Given the description of an element on the screen output the (x, y) to click on. 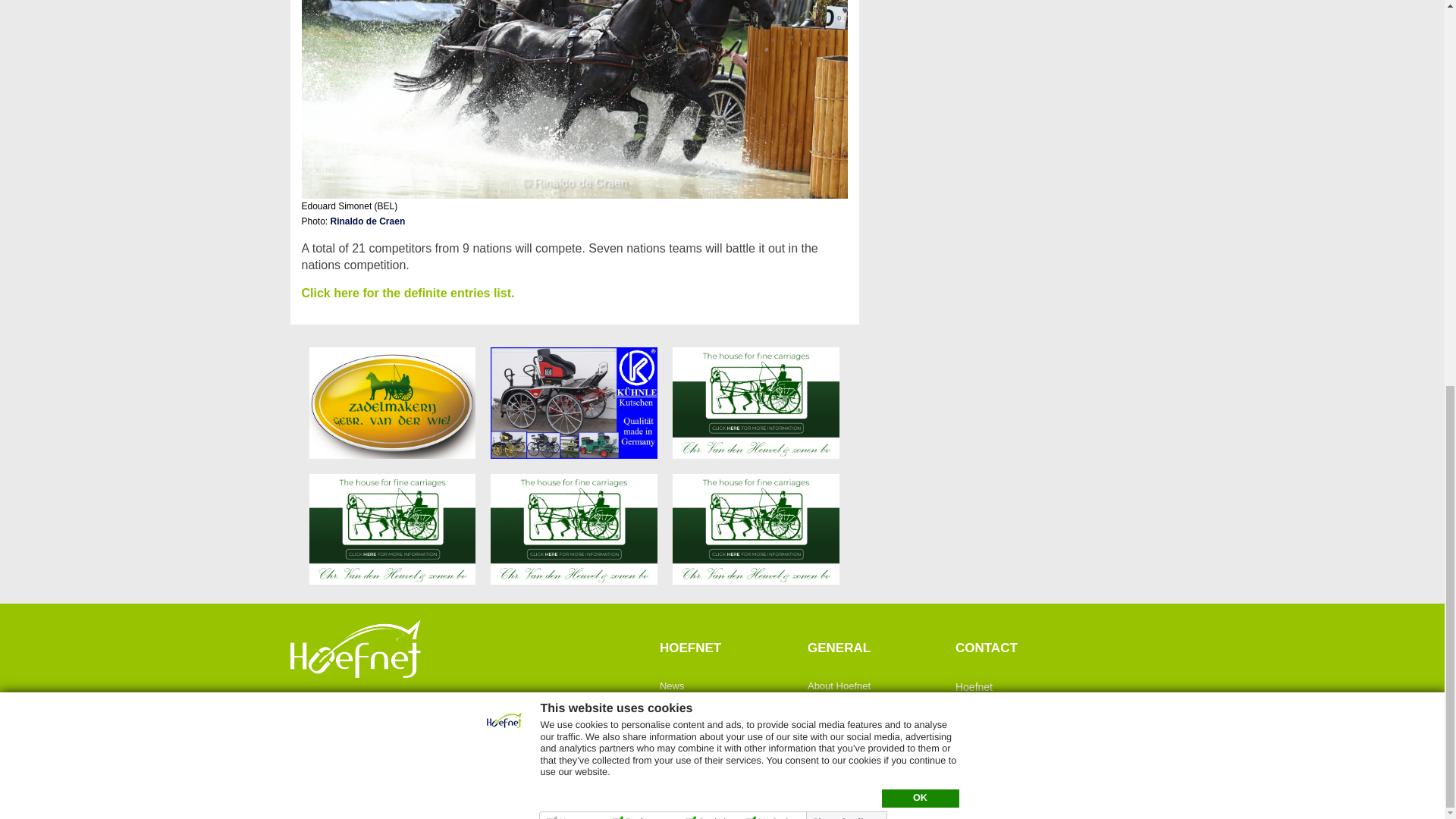
Show details (847, 93)
OK (919, 70)
